Given the description of an element on the screen output the (x, y) to click on. 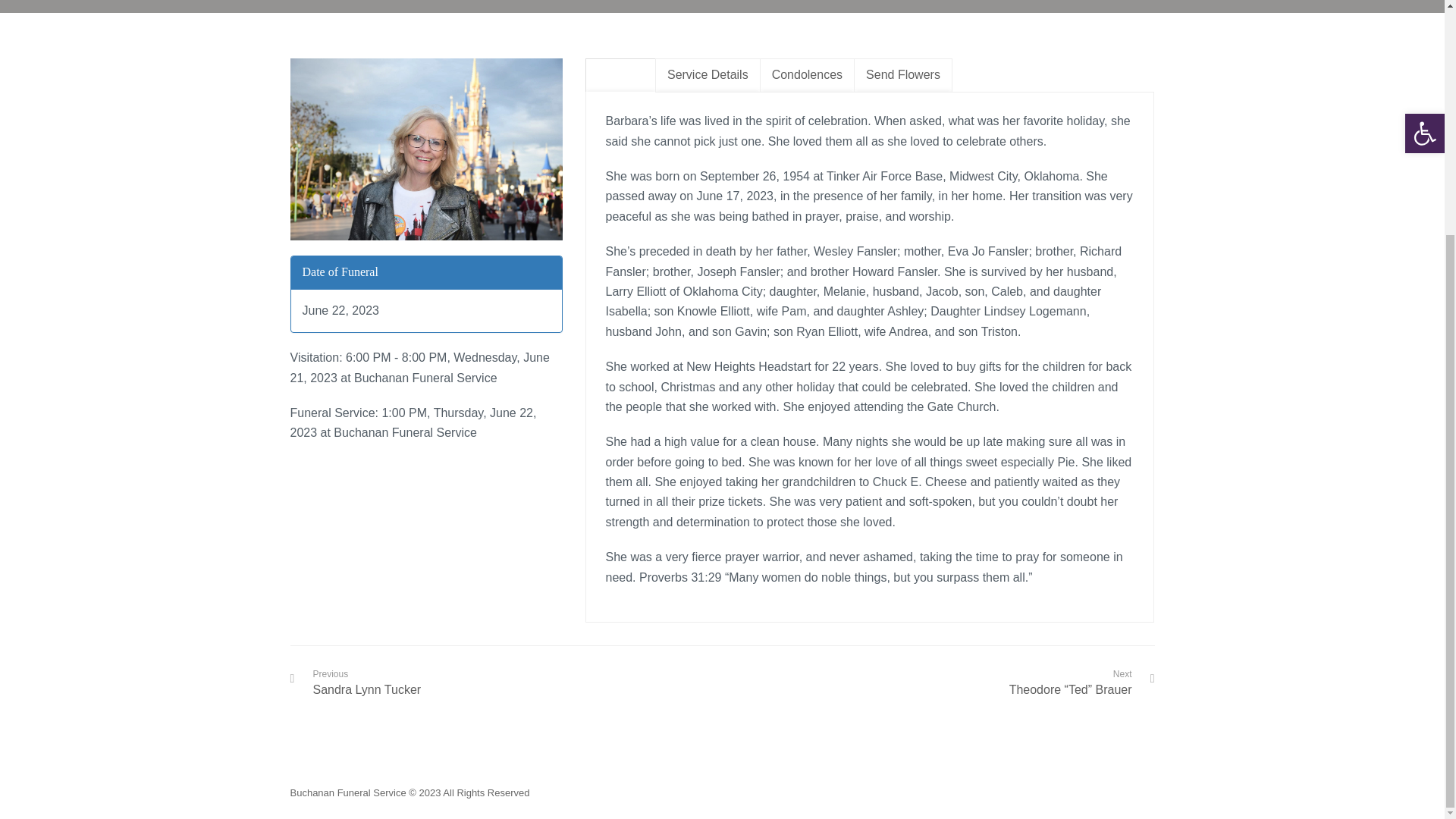
Service Details (707, 75)
Condolences (807, 75)
Send Flowers (902, 75)
Obituary (620, 75)
